Given the description of an element on the screen output the (x, y) to click on. 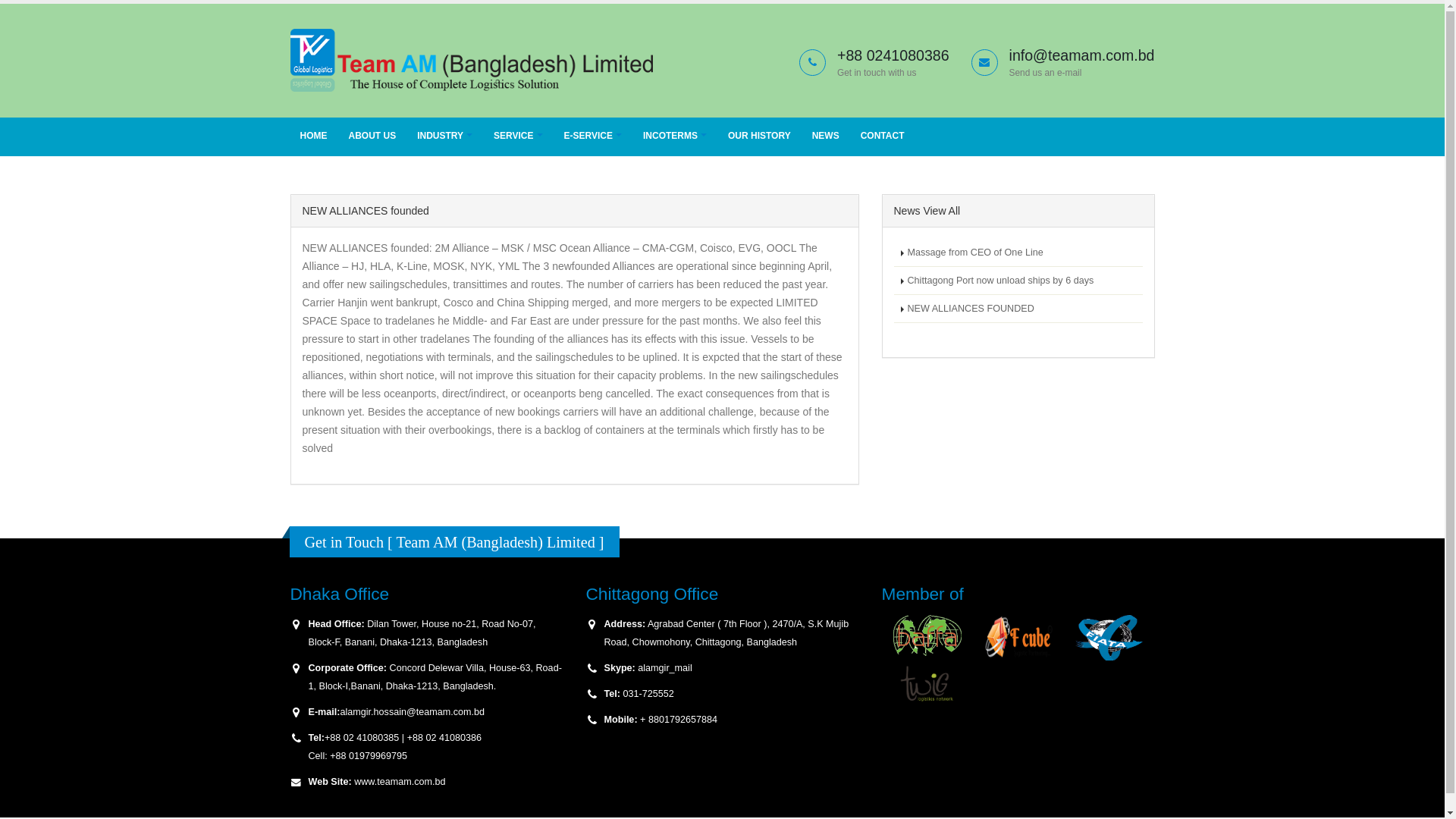
NEWS Element type: text (825, 135)
Massage from CEO of One Line Element type: text (1017, 252)
CONTACT Element type: text (882, 135)
INCOTERMS Element type: text (674, 135)
HOME Element type: text (312, 135)
ABOUT US Element type: text (371, 135)
Chittagong Port now unload ships by 6 days Element type: text (1017, 280)
INDUSTRY Element type: text (444, 135)
OUR HISTORY Element type: text (759, 135)
NEW ALLIANCES FOUNDED Element type: text (1017, 308)
E-SERVICE Element type: text (592, 135)
SERVICE Element type: text (517, 135)
